Given the description of an element on the screen output the (x, y) to click on. 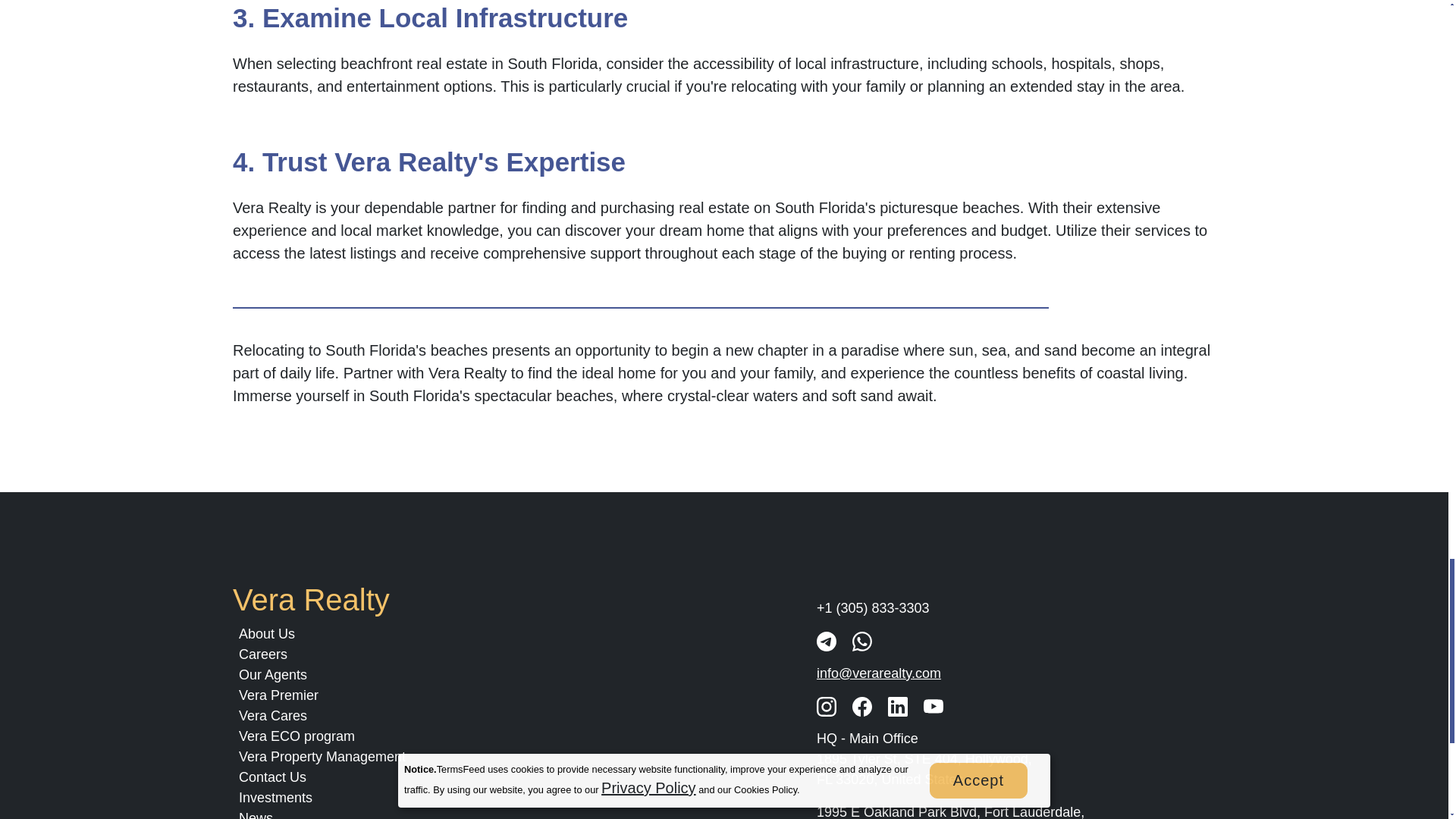
Vera ECO program (296, 735)
Vera Property Management (322, 756)
Our Agents (272, 674)
About Us (266, 633)
Careers (262, 654)
Vera Cares (272, 715)
Contact Us (271, 776)
Investments (275, 797)
News (255, 814)
Vera Premier (278, 694)
